Given the description of an element on the screen output the (x, y) to click on. 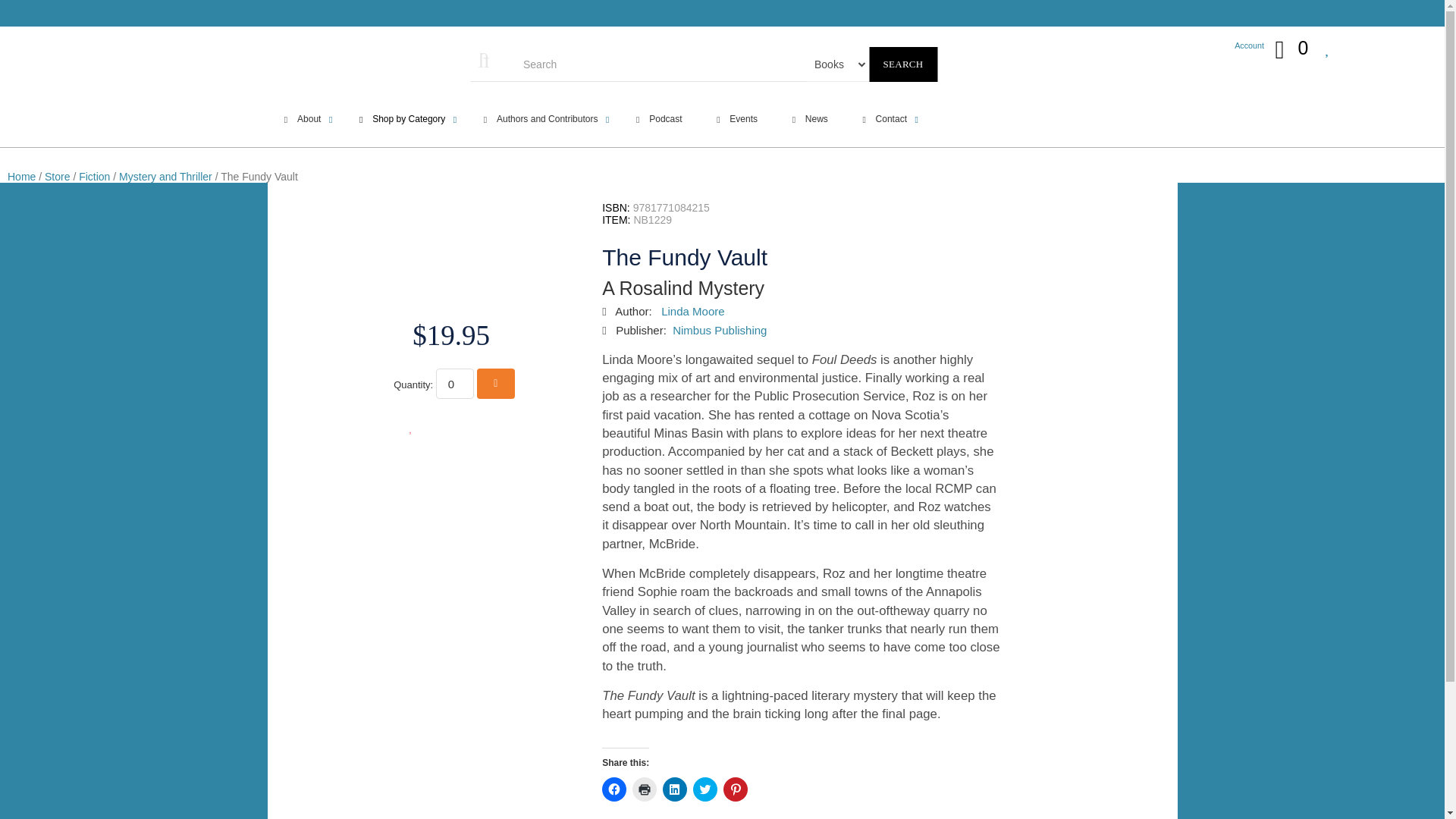
0 (454, 383)
